Given the description of an element on the screen output the (x, y) to click on. 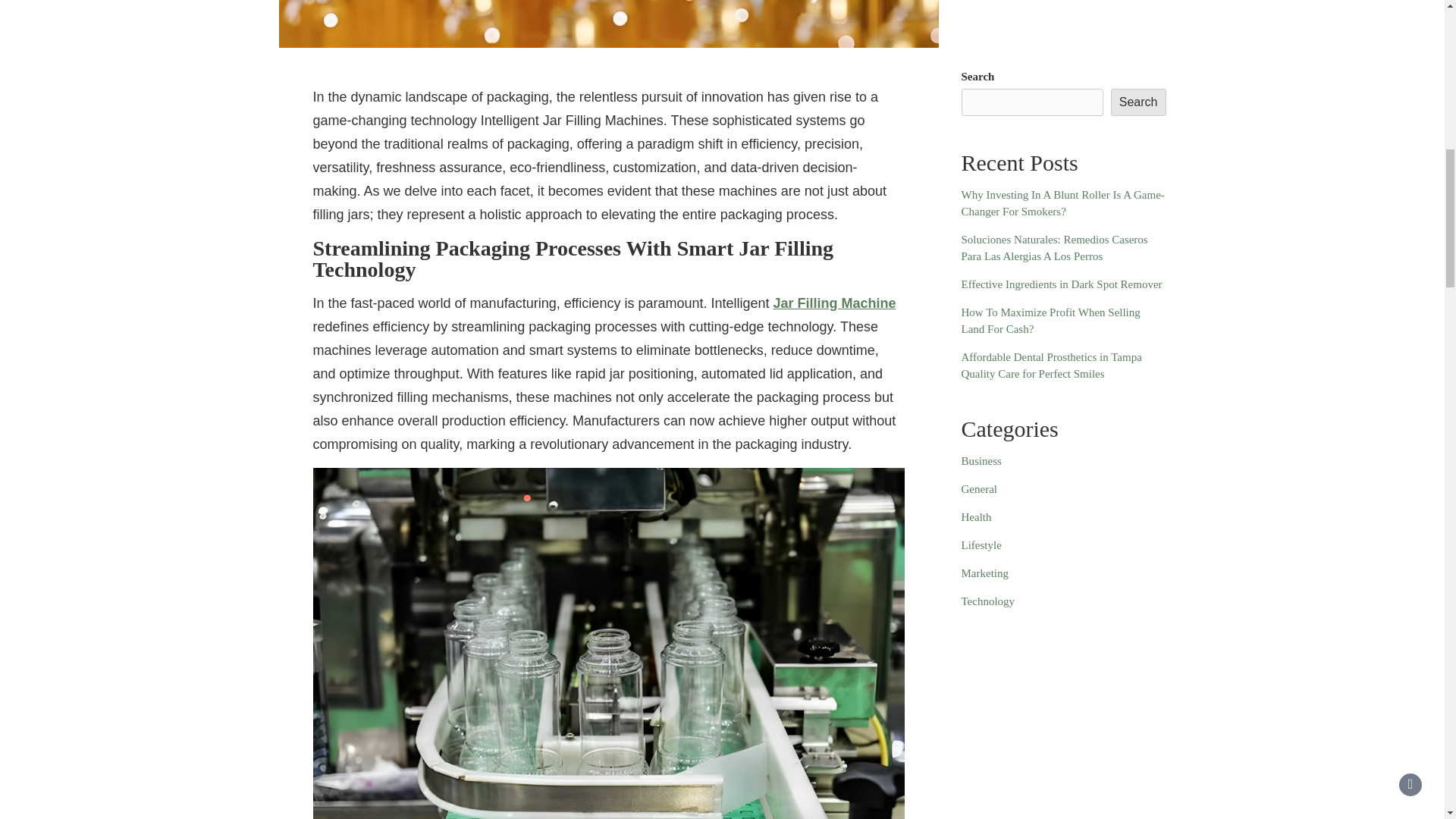
Jar Filling Machine (834, 303)
